Given the description of an element on the screen output the (x, y) to click on. 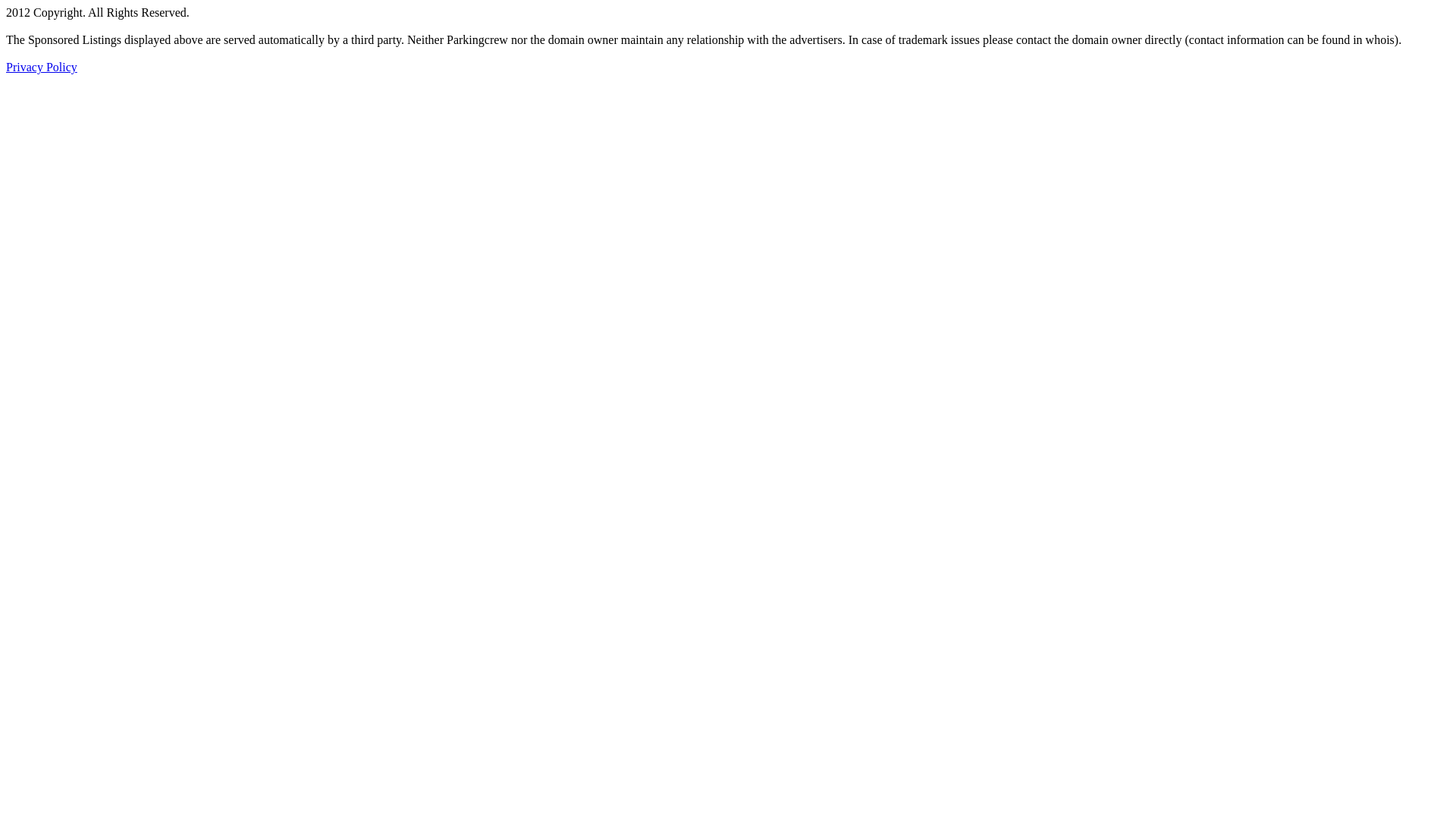
Privacy Policy Element type: text (41, 66)
